Given the description of an element on the screen output the (x, y) to click on. 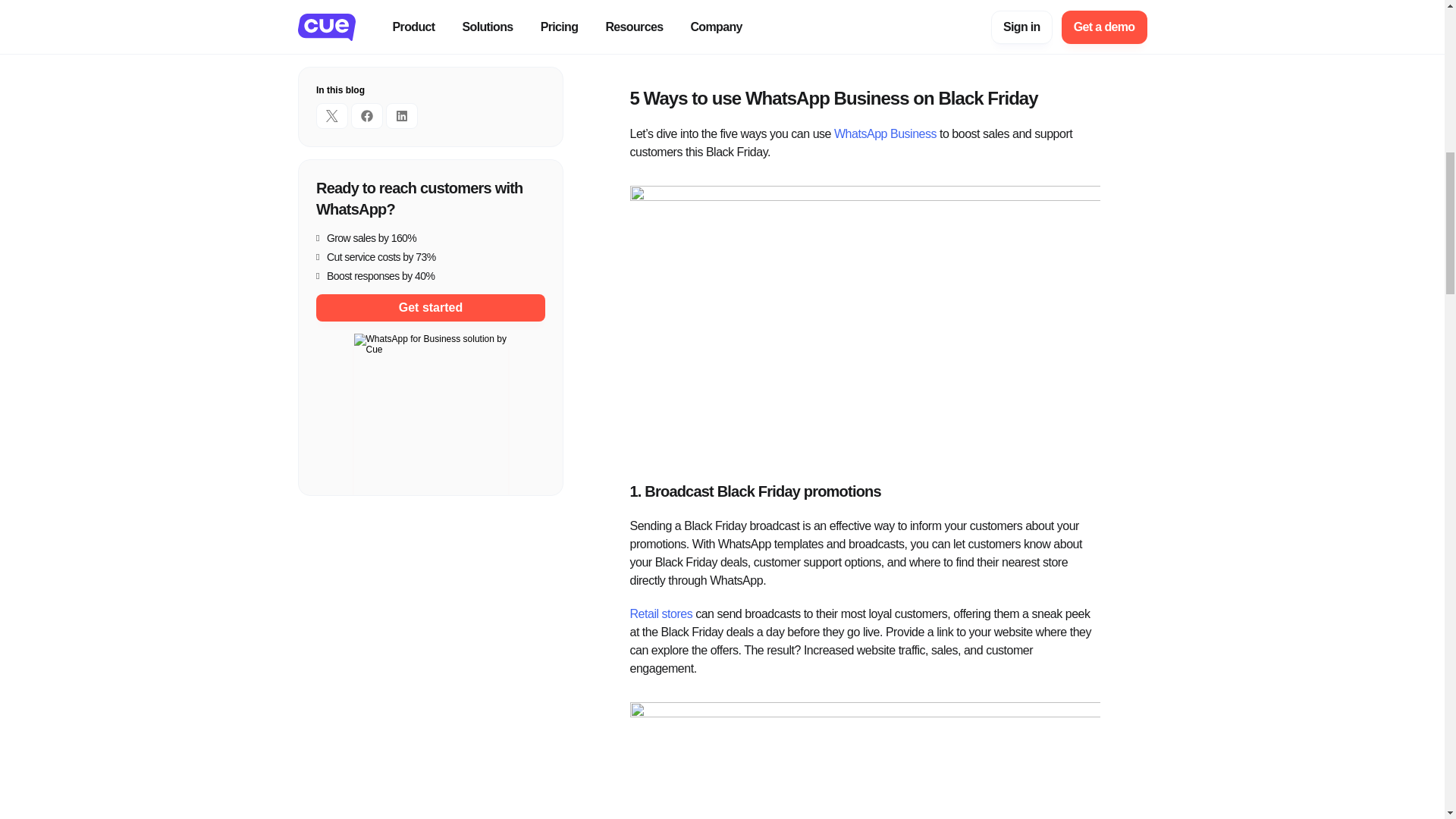
WhatsApp Business (885, 133)
Get started (429, 223)
Retail stores (660, 613)
